Given the description of an element on the screen output the (x, y) to click on. 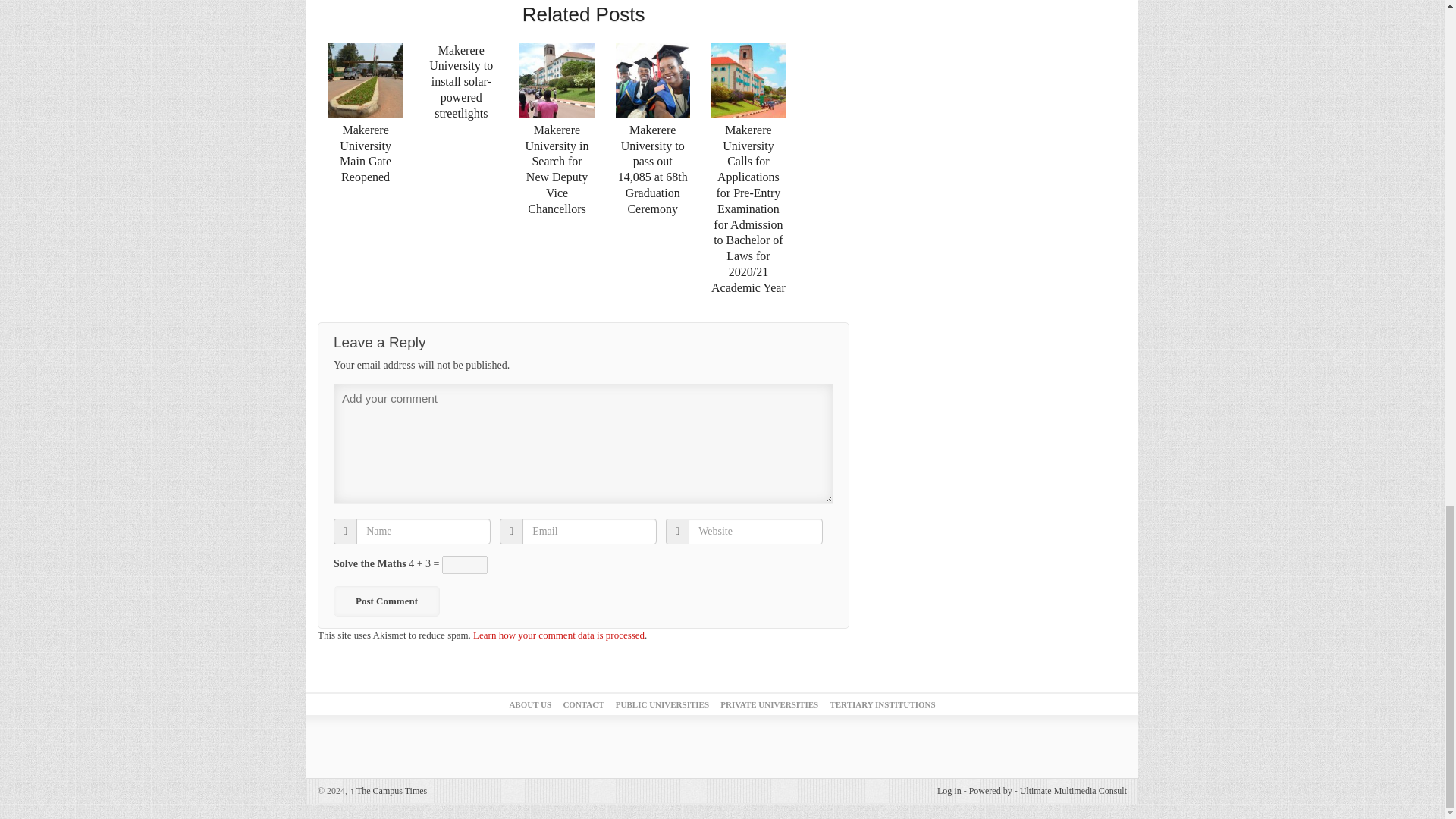
Post Comment (386, 601)
Makerere University Main Gate Reopened (366, 81)
